Given the description of an element on the screen output the (x, y) to click on. 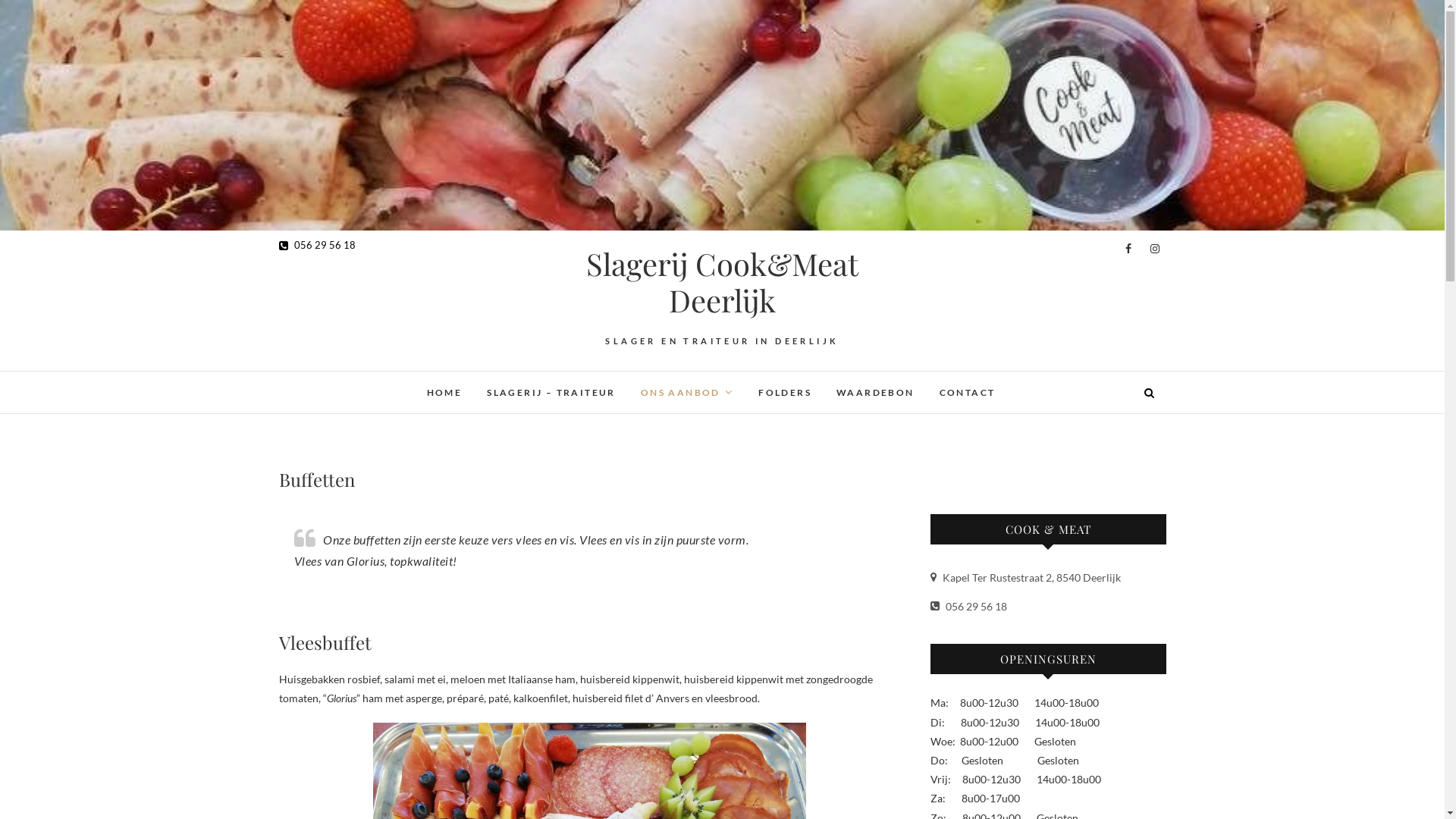
CONTACT Element type: text (967, 392)
FOLDERS Element type: text (784, 392)
ONS AANBOD Element type: text (686, 392)
056 29 56 18 Element type: text (317, 244)
Slagerij Cook&Meat Deerlijk Element type: text (721, 281)
WAARDEBON Element type: text (875, 392)
HOME Element type: text (444, 392)
Kapel Ter Rustestraat 2, 8540 Deerlijk Element type: text (1024, 577)
056 29 56 18 Element type: text (967, 605)
